Given the description of an element on the screen output the (x, y) to click on. 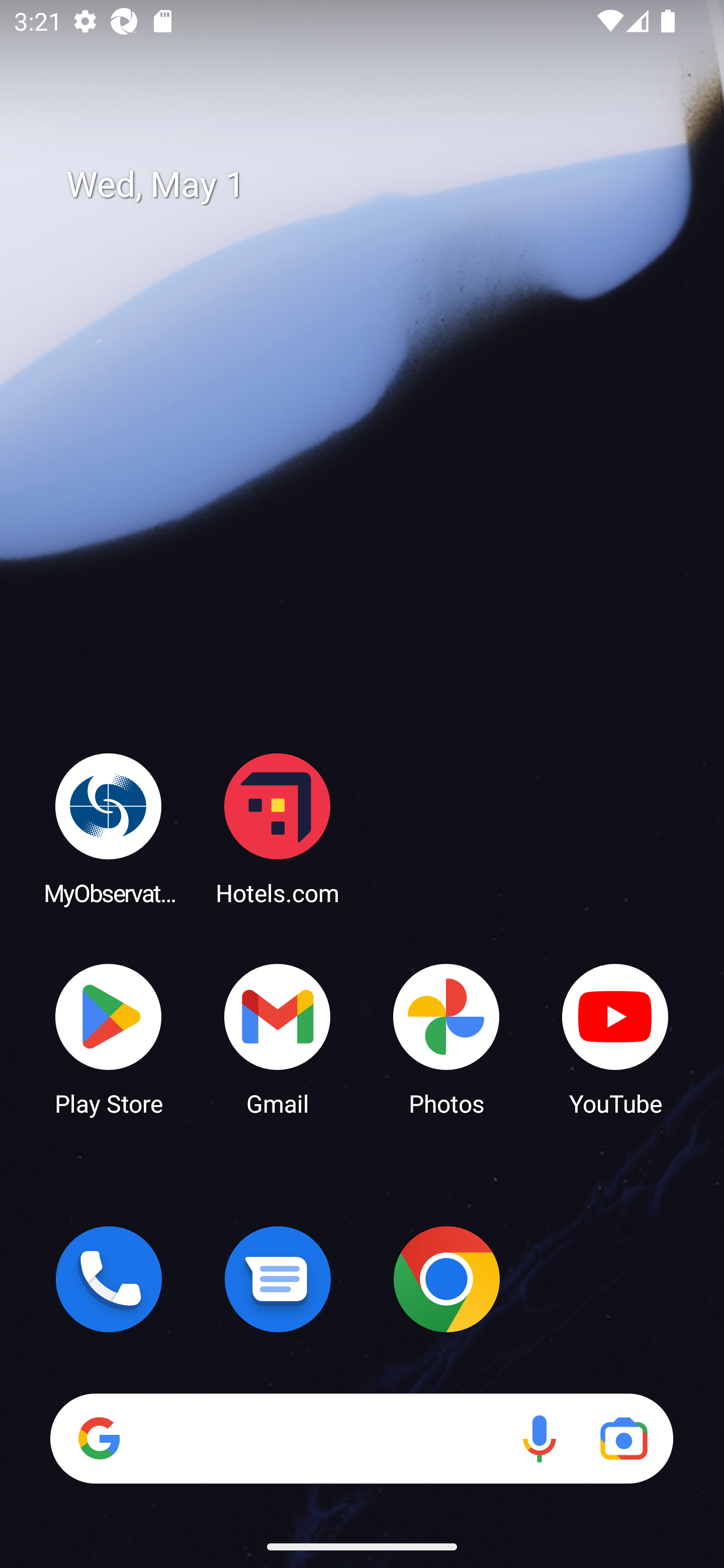
Wed, May 1 (375, 184)
MyObservatory (108, 828)
Hotels.com (277, 828)
Play Store (108, 1038)
Gmail (277, 1038)
Photos (445, 1038)
YouTube (615, 1038)
Phone (108, 1279)
Messages (277, 1279)
Chrome (446, 1279)
Search Voice search Google Lens (361, 1438)
Voice search (539, 1438)
Google Lens (623, 1438)
